Given the description of an element on the screen output the (x, y) to click on. 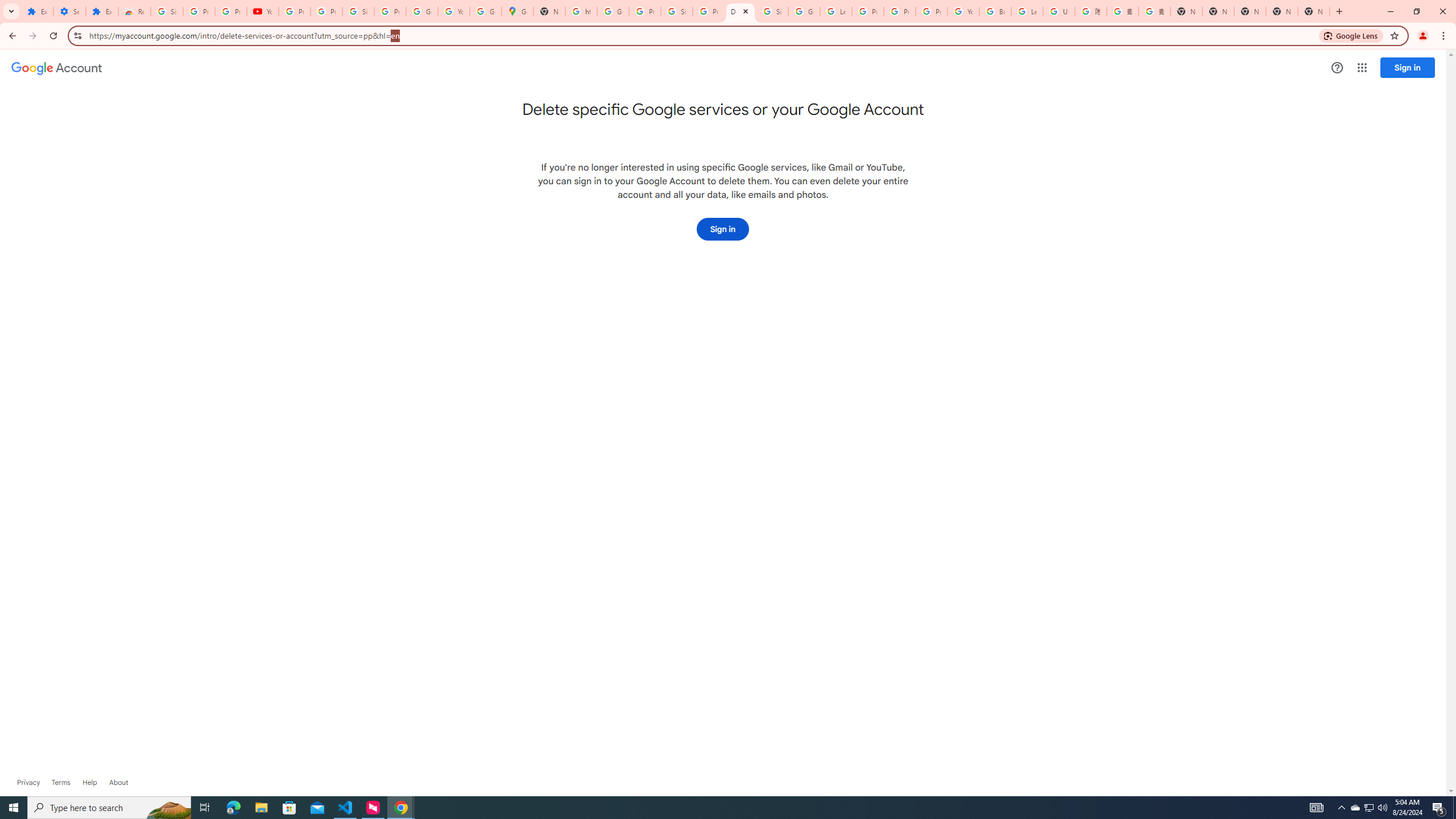
YouTube (963, 11)
Google Account (421, 11)
New Tab (1313, 11)
Search with Google Lens (1351, 35)
New Tab (1185, 11)
